Given the description of an element on the screen output the (x, y) to click on. 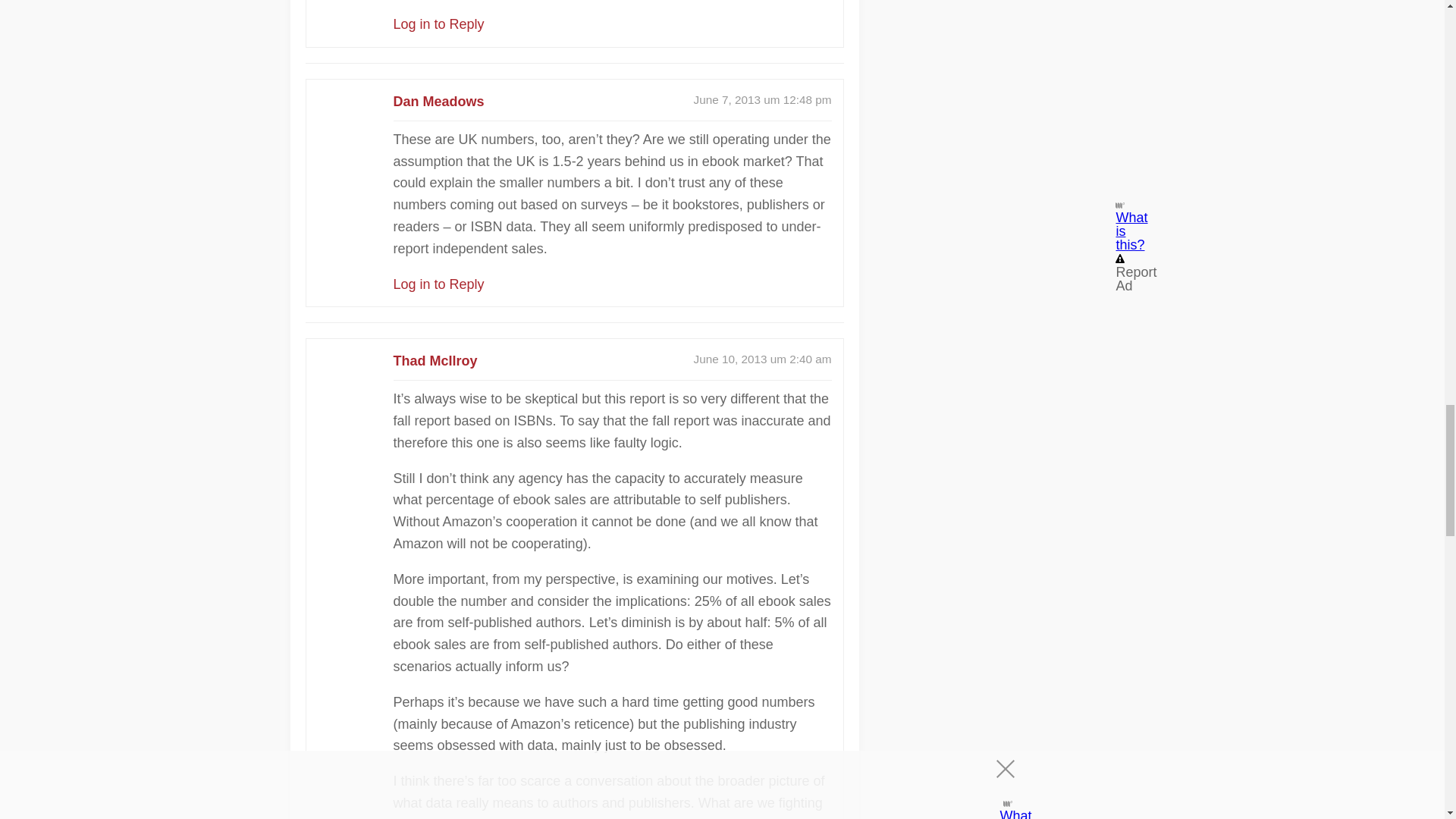
Log in to Reply (438, 23)
Log in to Reply (438, 283)
